Given the description of an element on the screen output the (x, y) to click on. 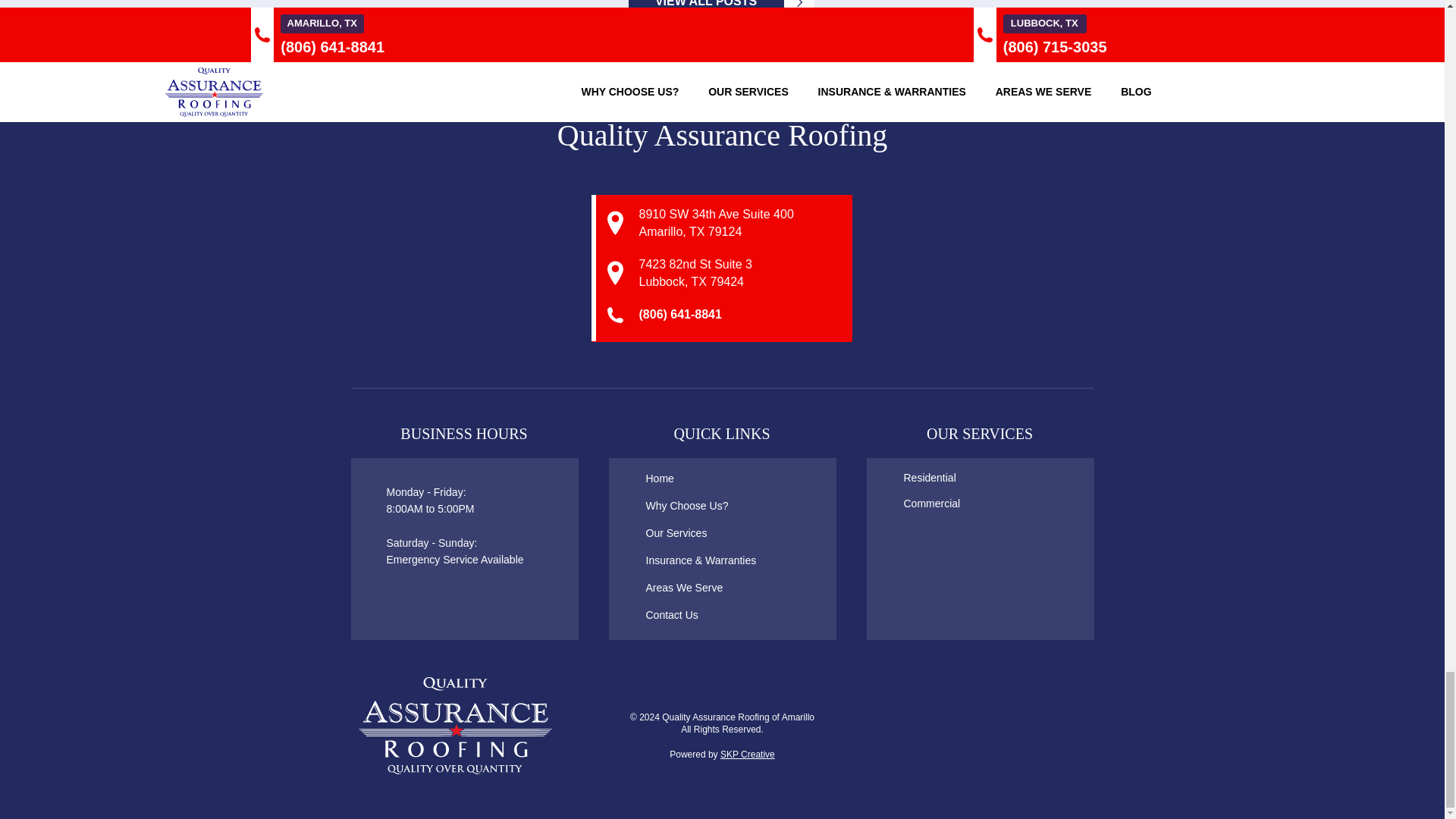
Why Choose Us? (692, 505)
SKP Creative (747, 754)
Residential (949, 477)
Home (692, 477)
Our Services (692, 532)
Commercial (949, 503)
Contact Us (692, 614)
Areas We Serve (692, 587)
